Given the description of an element on the screen output the (x, y) to click on. 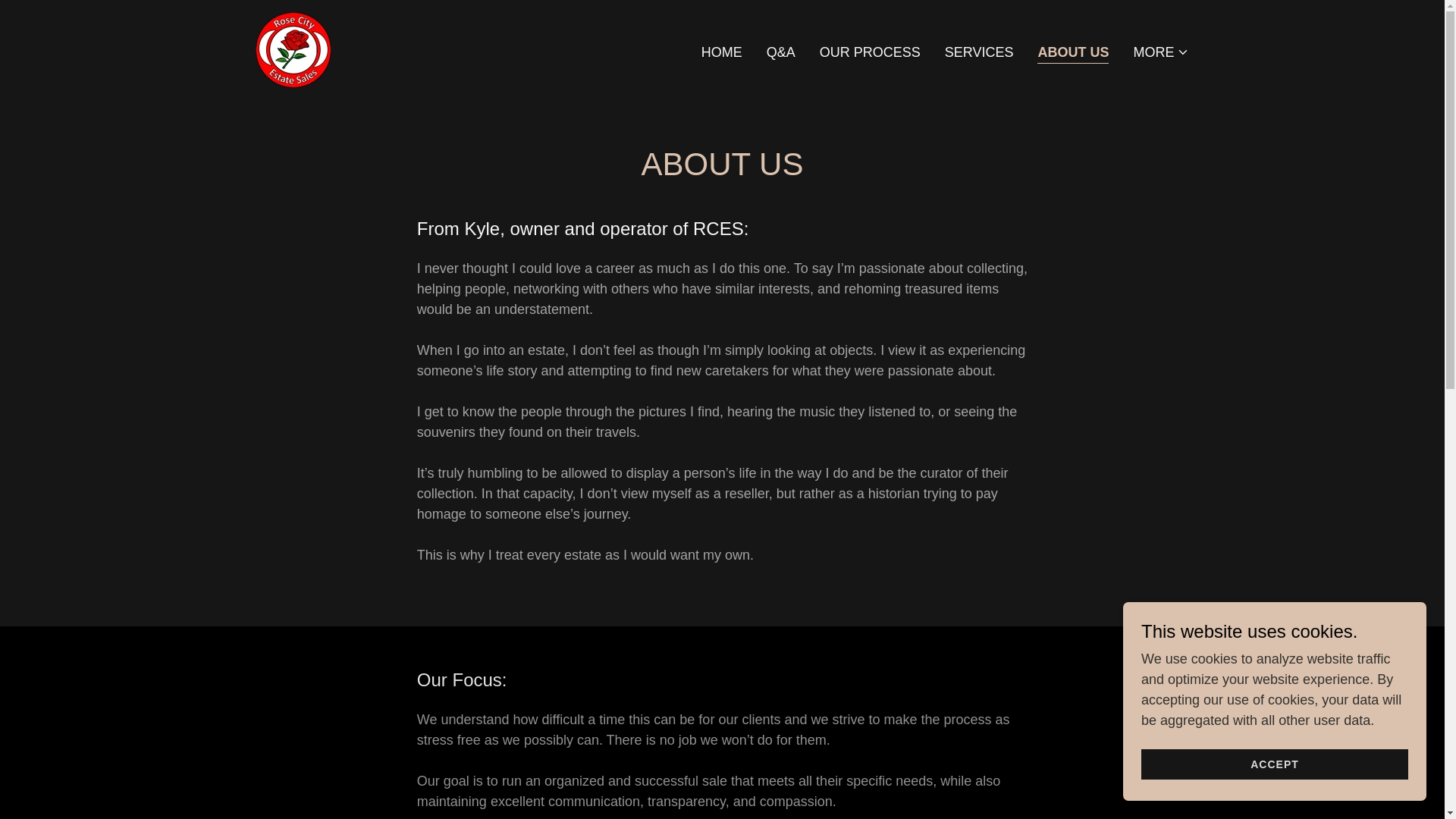
OUR PROCESS (869, 51)
HOME (721, 51)
SERVICES (978, 51)
MORE (1160, 51)
ACCEPT (1274, 764)
Rose City Estate Sales (292, 48)
ABOUT US (1072, 52)
